Given the description of an element on the screen output the (x, y) to click on. 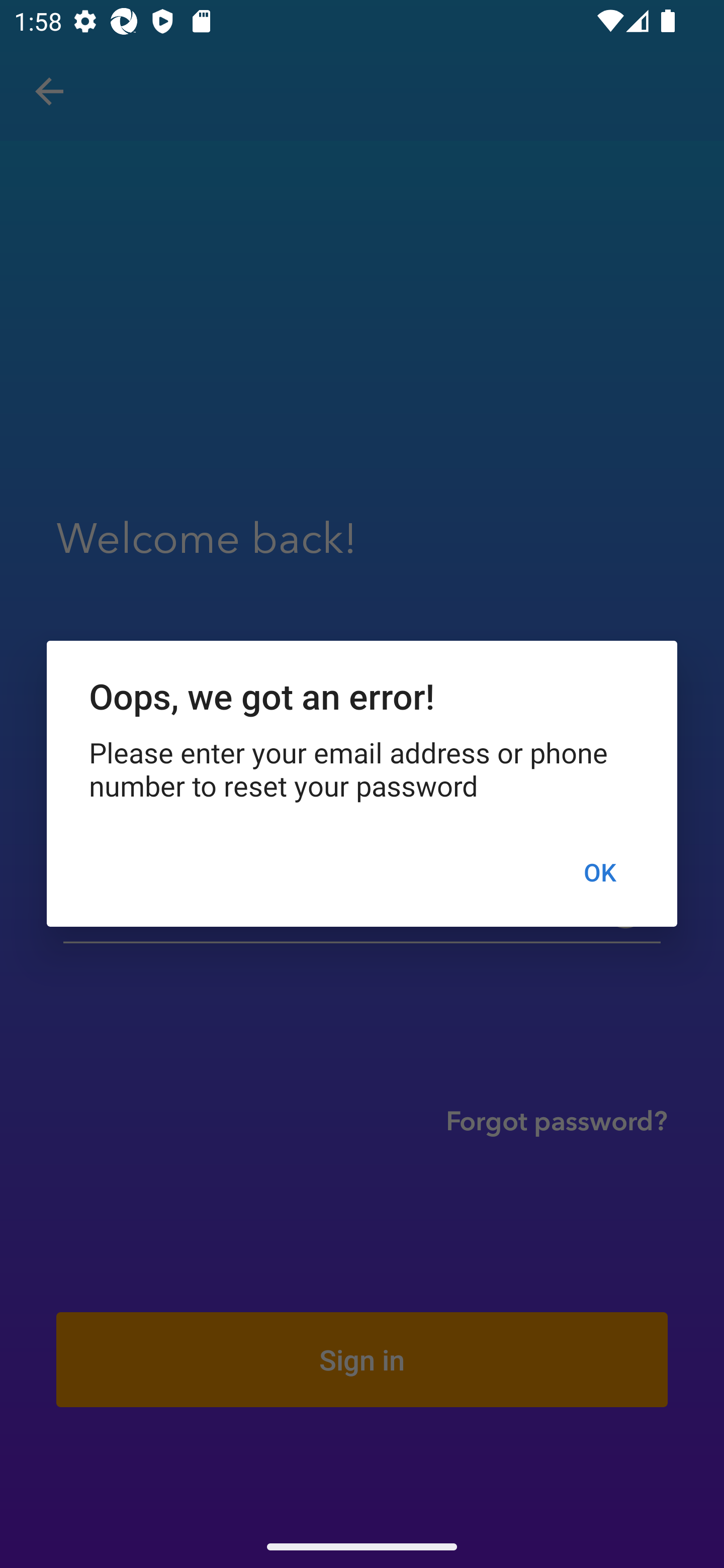
OK (599, 872)
